Given the description of an element on the screen output the (x, y) to click on. 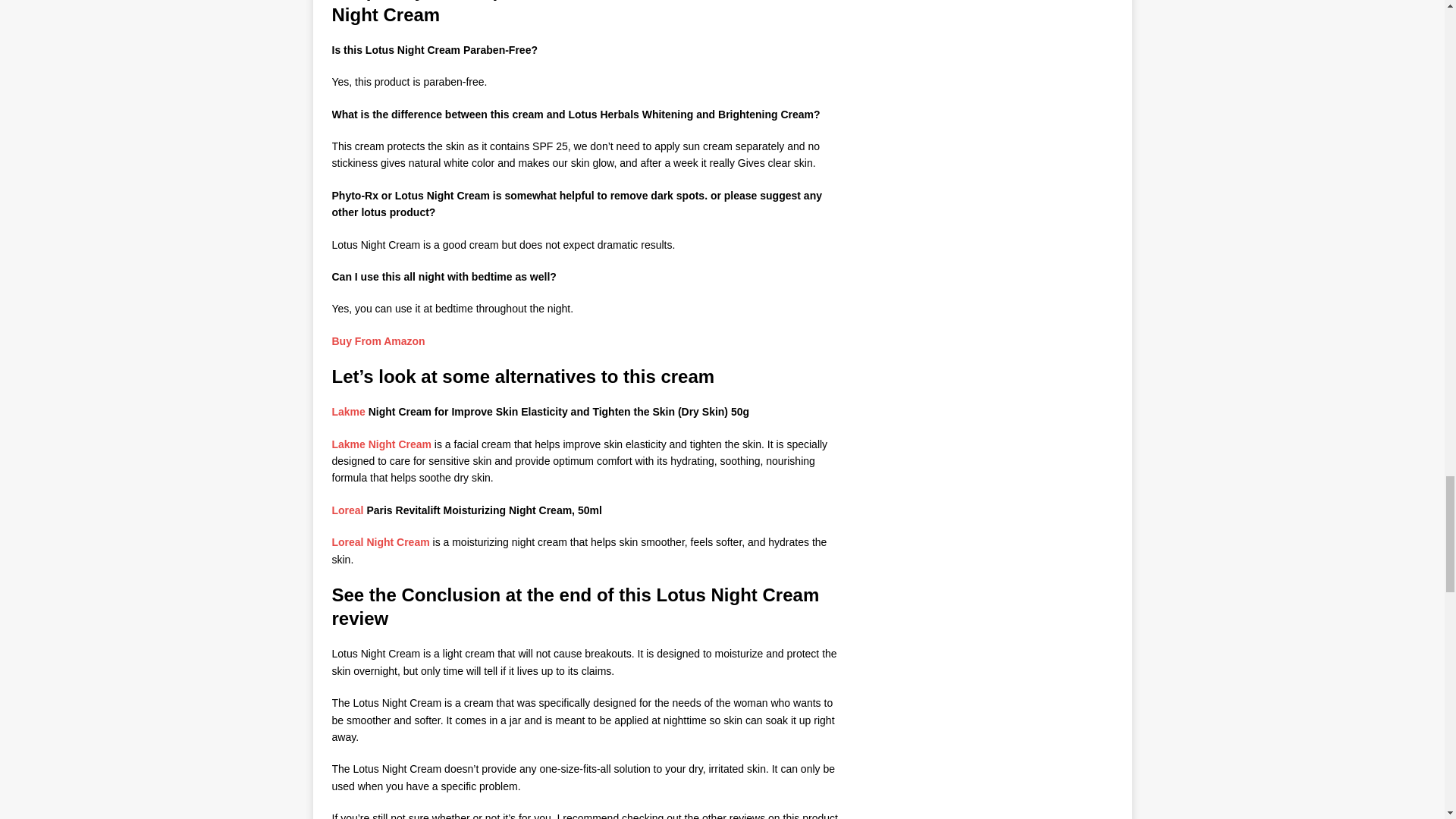
Loreal Night Cream (380, 541)
Lakme Night Cream (380, 444)
Loreal (347, 510)
Lakme (348, 411)
Buy From Amazon (378, 340)
